Given the description of an element on the screen output the (x, y) to click on. 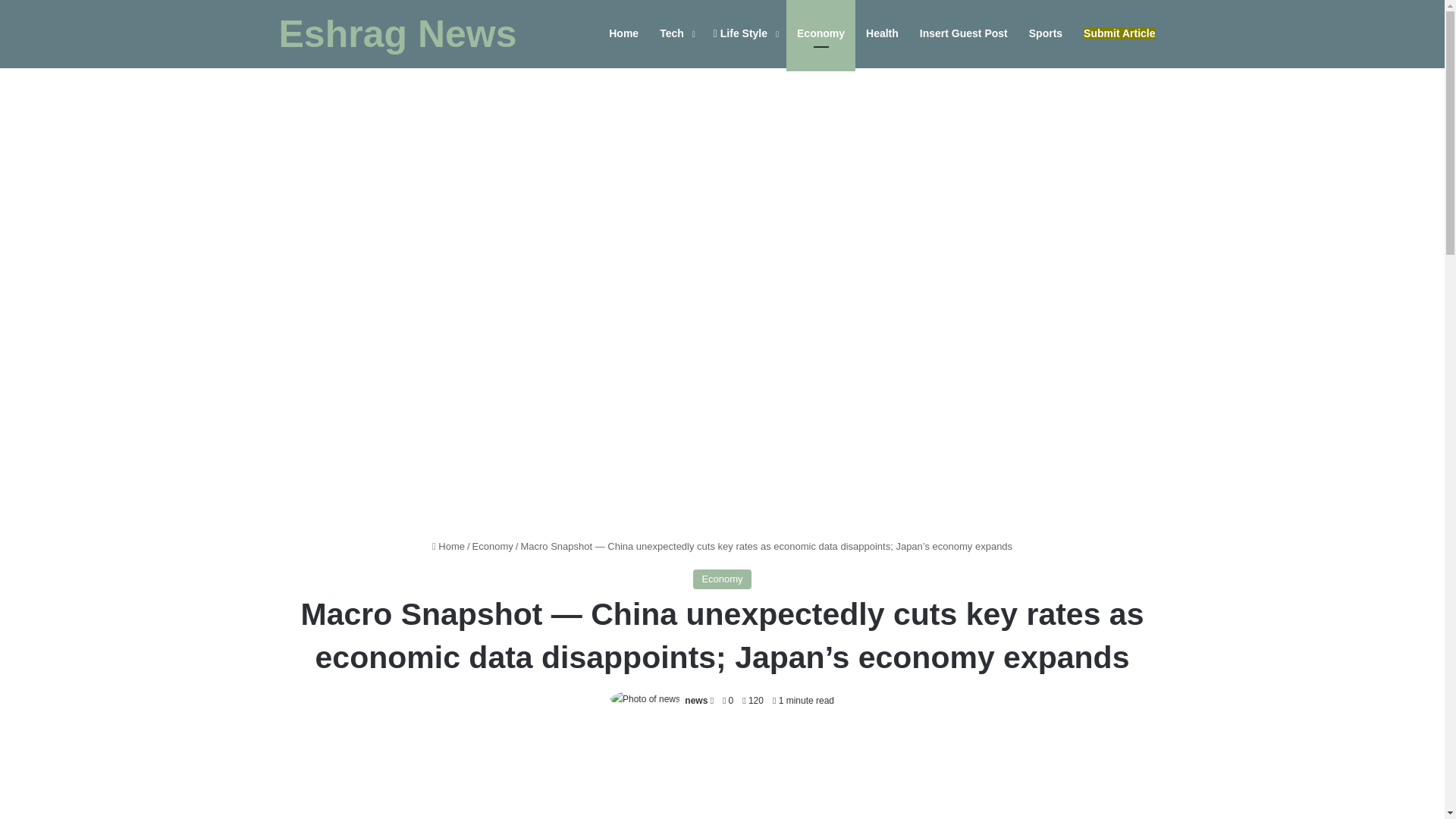
Insert Guest Post (962, 33)
Eshrag News (397, 34)
Economy (492, 546)
news (695, 700)
Economy (821, 33)
Submit Article (1119, 33)
Home (448, 546)
Eshrag News (397, 34)
Life Style (744, 33)
Advertisement (722, 775)
news (695, 700)
Economy (722, 578)
